Given the description of an element on the screen output the (x, y) to click on. 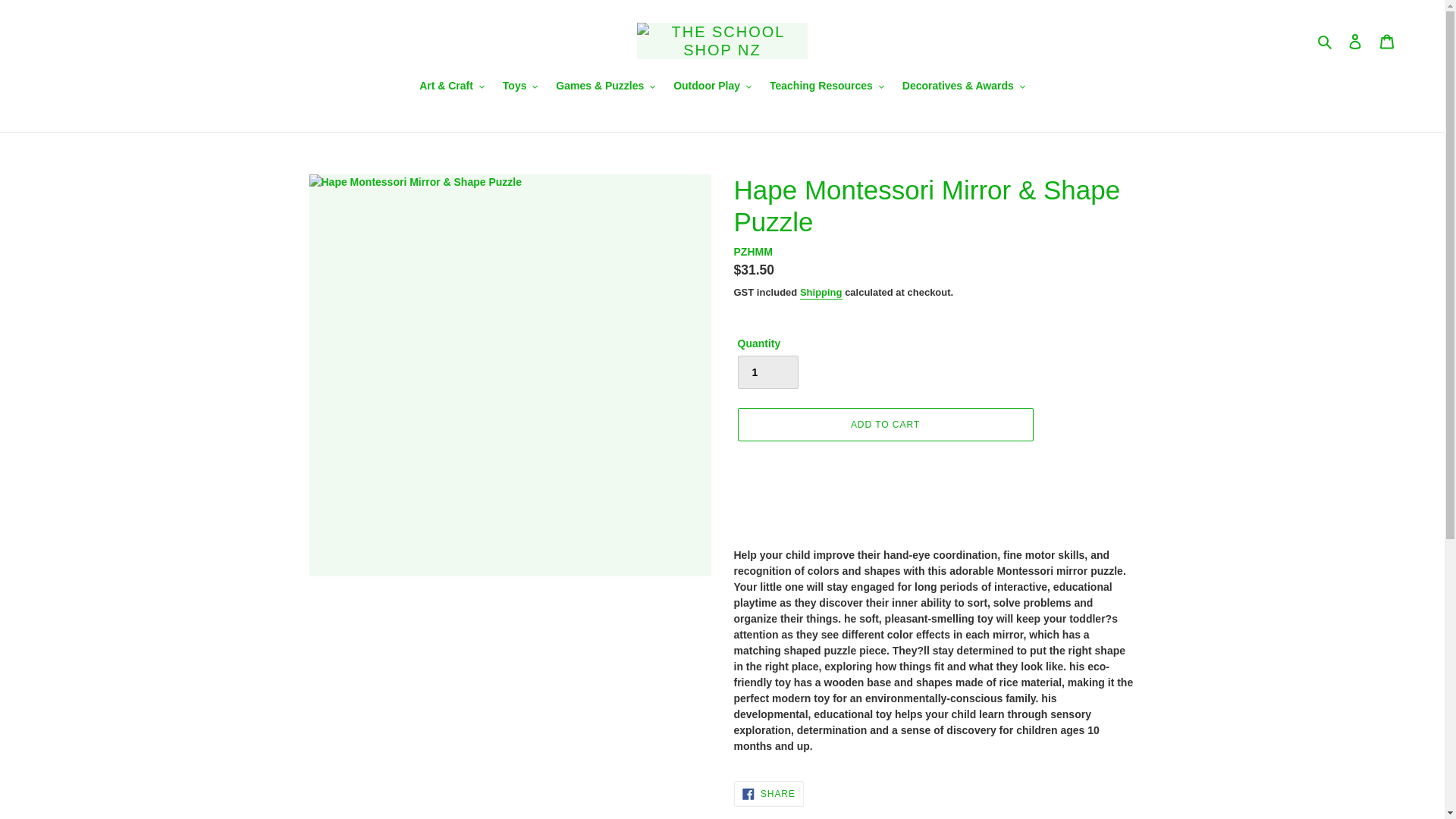
1 (766, 372)
Cart (1387, 40)
Search (1326, 40)
Log in (1355, 40)
